Given the description of an element on the screen output the (x, y) to click on. 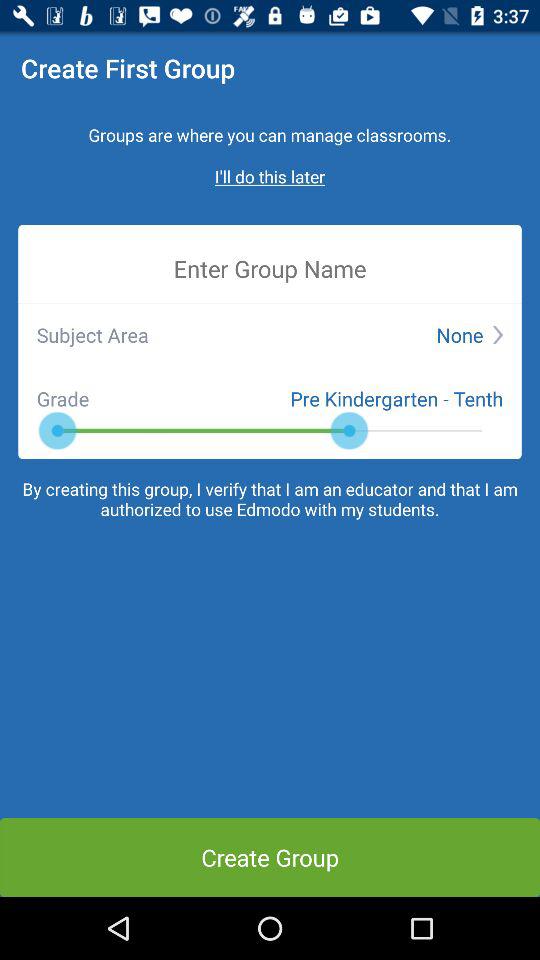
enter group name (269, 268)
